Given the description of an element on the screen output the (x, y) to click on. 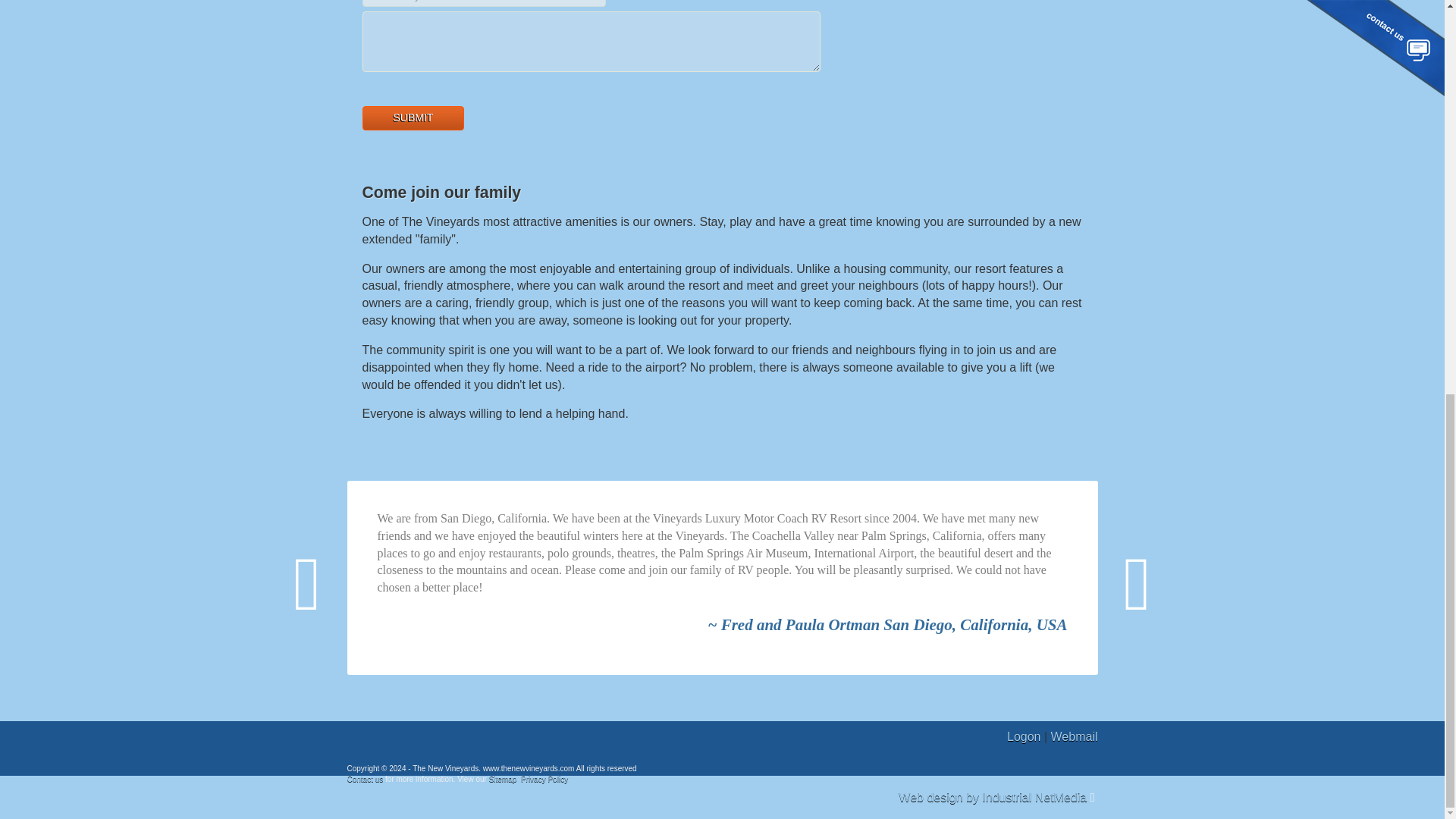
Contact The New Vineyards (365, 778)
include any additional information here (591, 41)
Edmonton Website Design (992, 797)
Sitemap (502, 778)
Submit (413, 118)
logon (1024, 736)
webmail (1074, 736)
Contact us (365, 778)
Web design by Industrial NetMedia (992, 797)
Submit (413, 118)
Logon (1024, 736)
Privacy Policy (544, 778)
Webmail (1074, 736)
submit your information (413, 118)
